Given the description of an element on the screen output the (x, y) to click on. 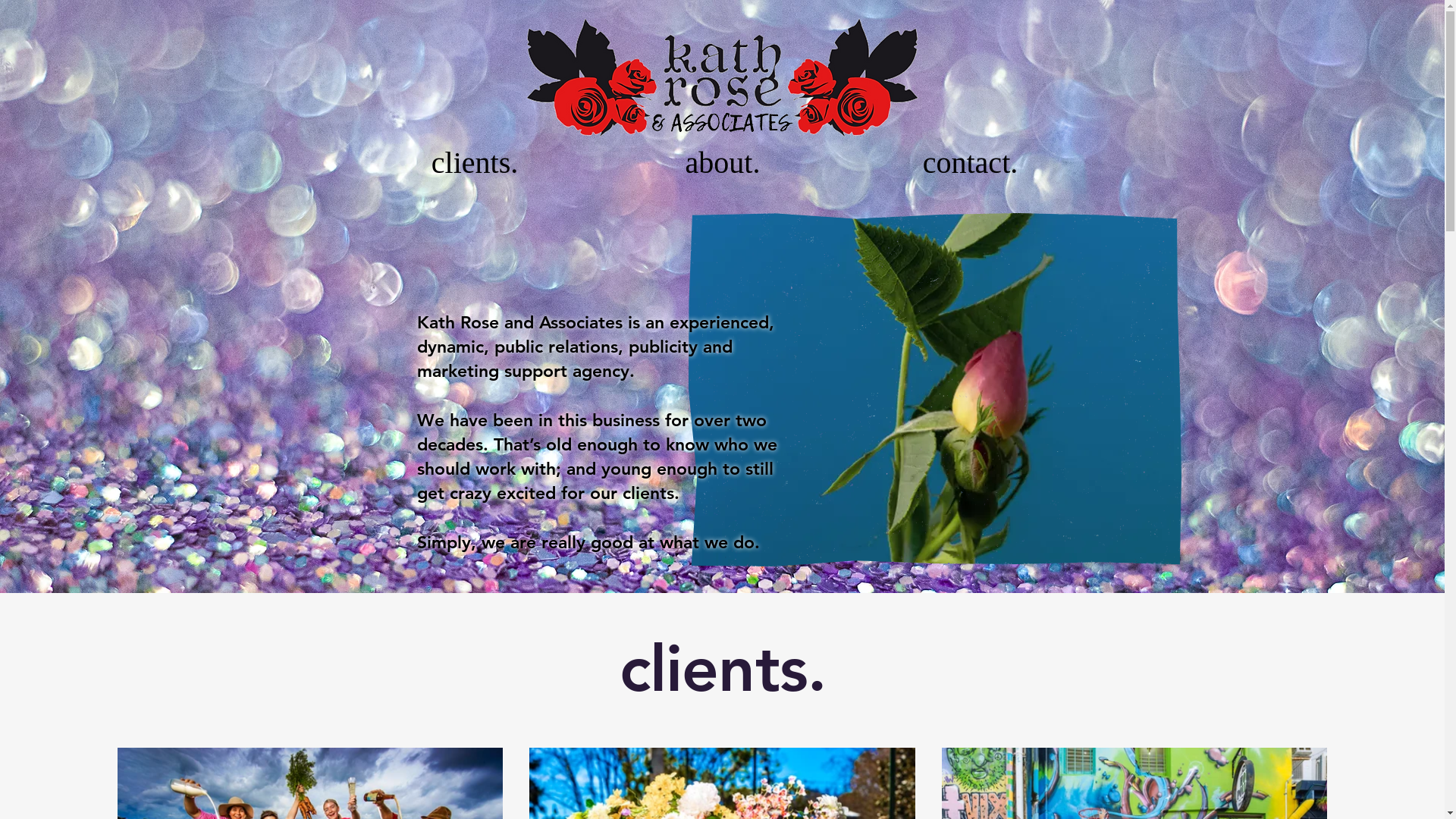
contact. Element type: text (969, 162)
clients. Element type: text (474, 162)
about. Element type: text (723, 162)
